Given the description of an element on the screen output the (x, y) to click on. 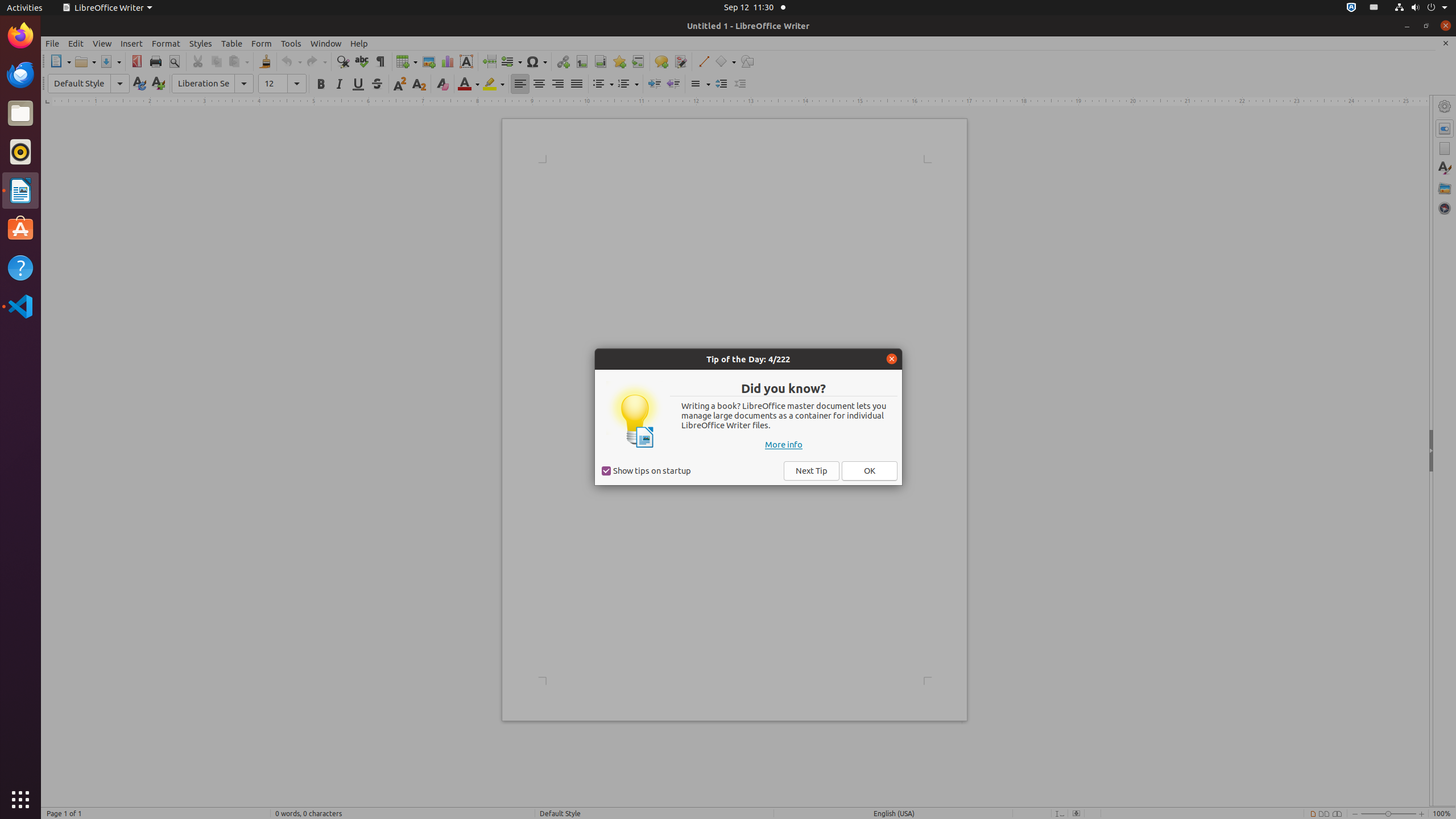
IsaHelpMain.desktop Element type: label (75, 170)
Activities Element type: label (24, 7)
